Given the description of an element on the screen output the (x, y) to click on. 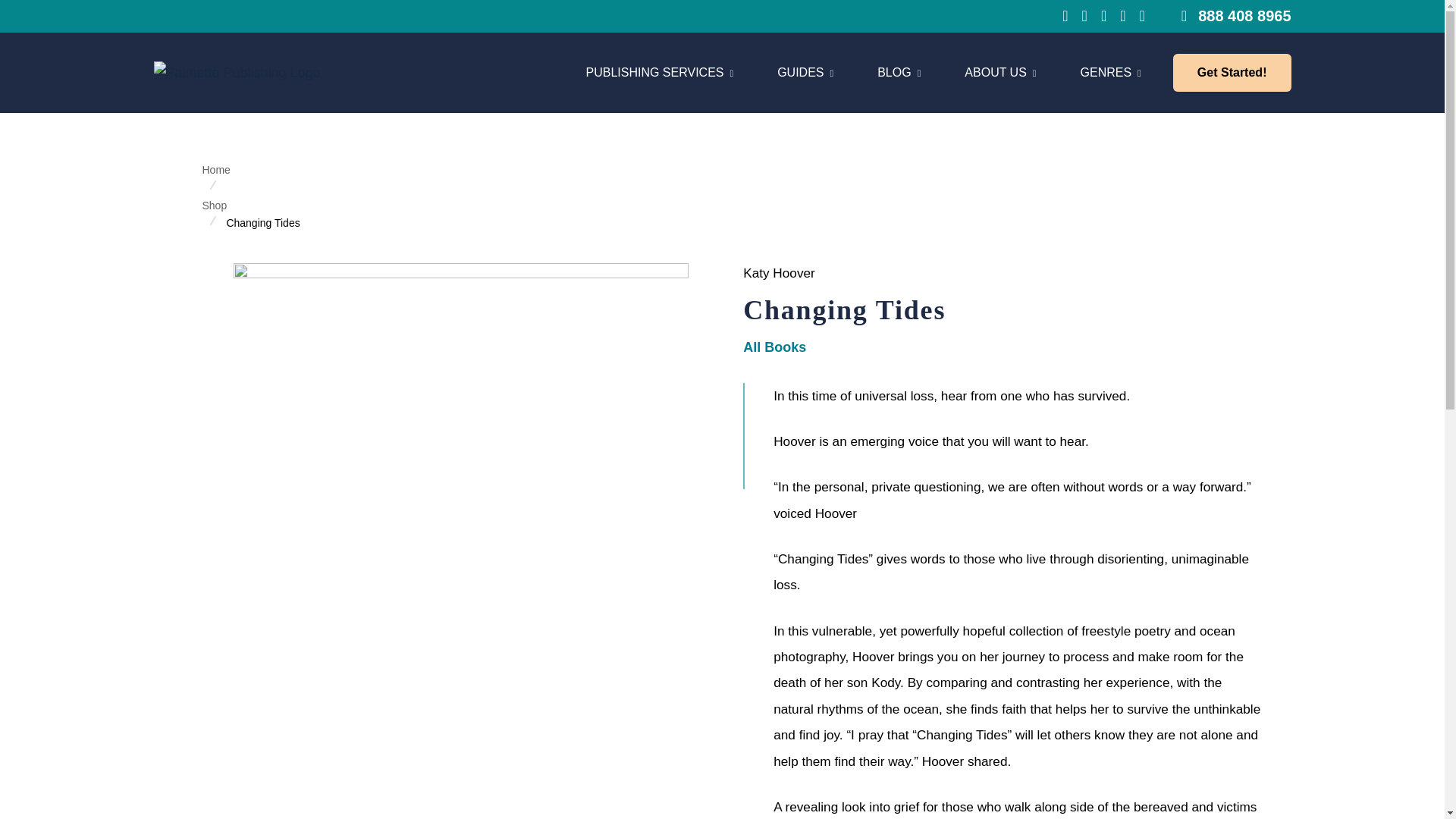
888 408 8965 (1235, 15)
PUBLISHING SERVICES (659, 72)
BLOG (866, 72)
GUIDES (899, 72)
ABOUT US (804, 72)
